Given the description of an element on the screen output the (x, y) to click on. 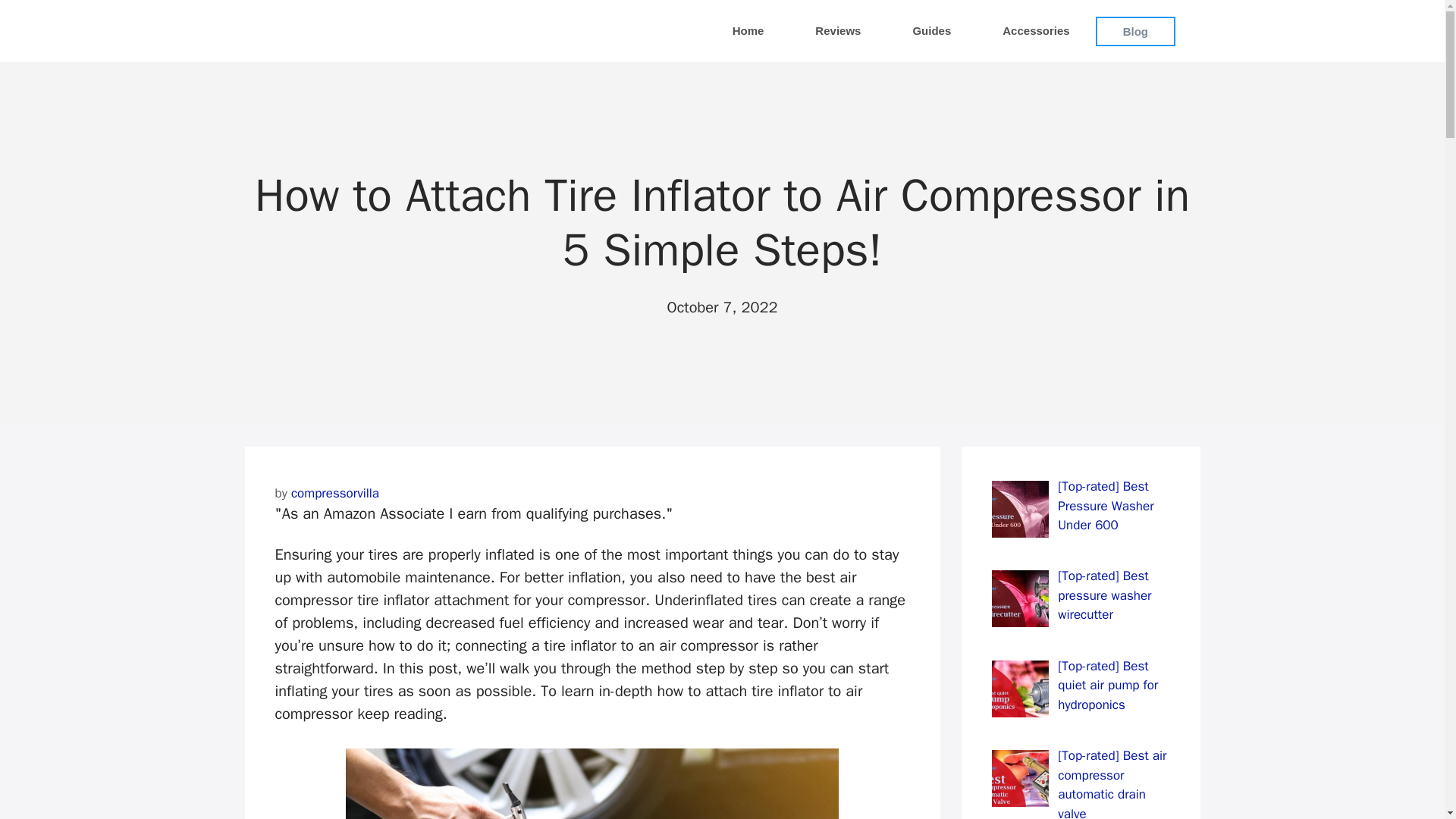
View all posts by compressorvilla (334, 493)
Home (748, 30)
Guides (931, 30)
Accessories (1035, 30)
Reviews (837, 30)
Blog (1135, 30)
compressorvilla (334, 493)
